Given the description of an element on the screen output the (x, y) to click on. 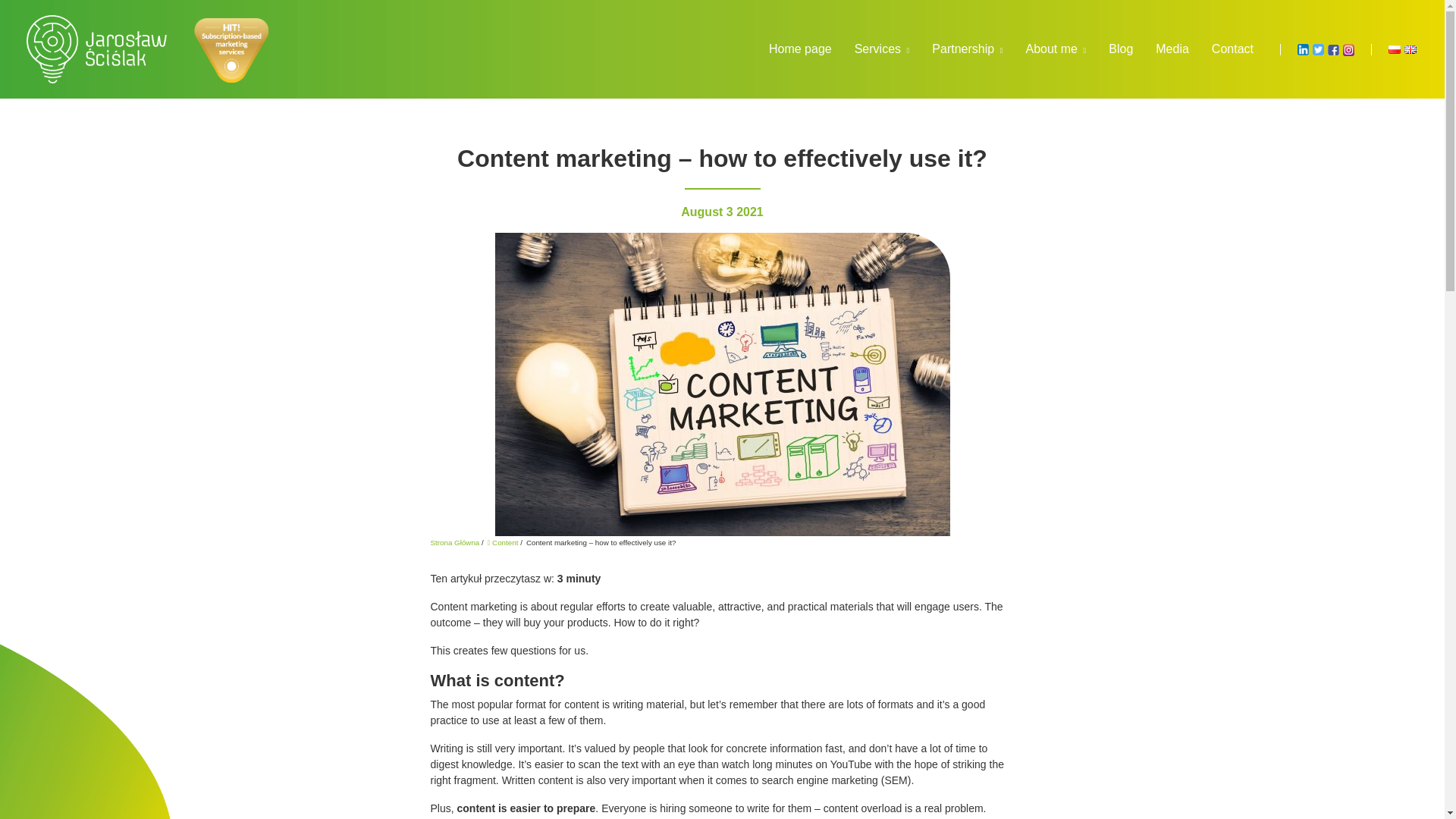
Contact (1232, 48)
Polski (1393, 49)
About me (1055, 48)
Partnership (966, 48)
English (1410, 49)
Media (1171, 48)
Blog (1120, 48)
Home page (800, 48)
Services (882, 48)
